Given the description of an element on the screen output the (x, y) to click on. 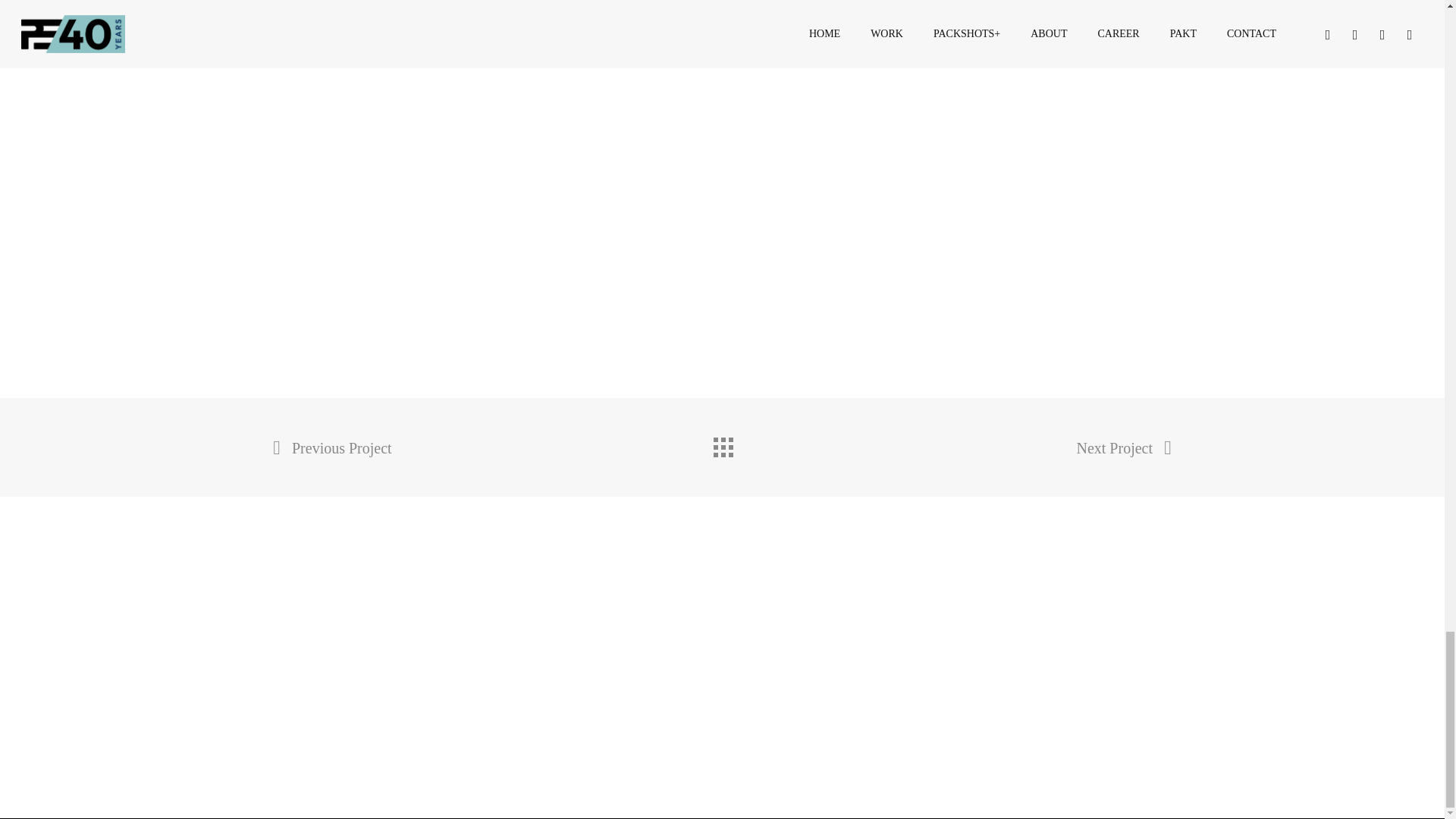
Next Project (1123, 447)
Back to all projects (721, 443)
Terms and conditions (357, 794)
Cookie policy (429, 794)
Disclaimer (293, 794)
Previous Project (332, 447)
